Given the description of an element on the screen output the (x, y) to click on. 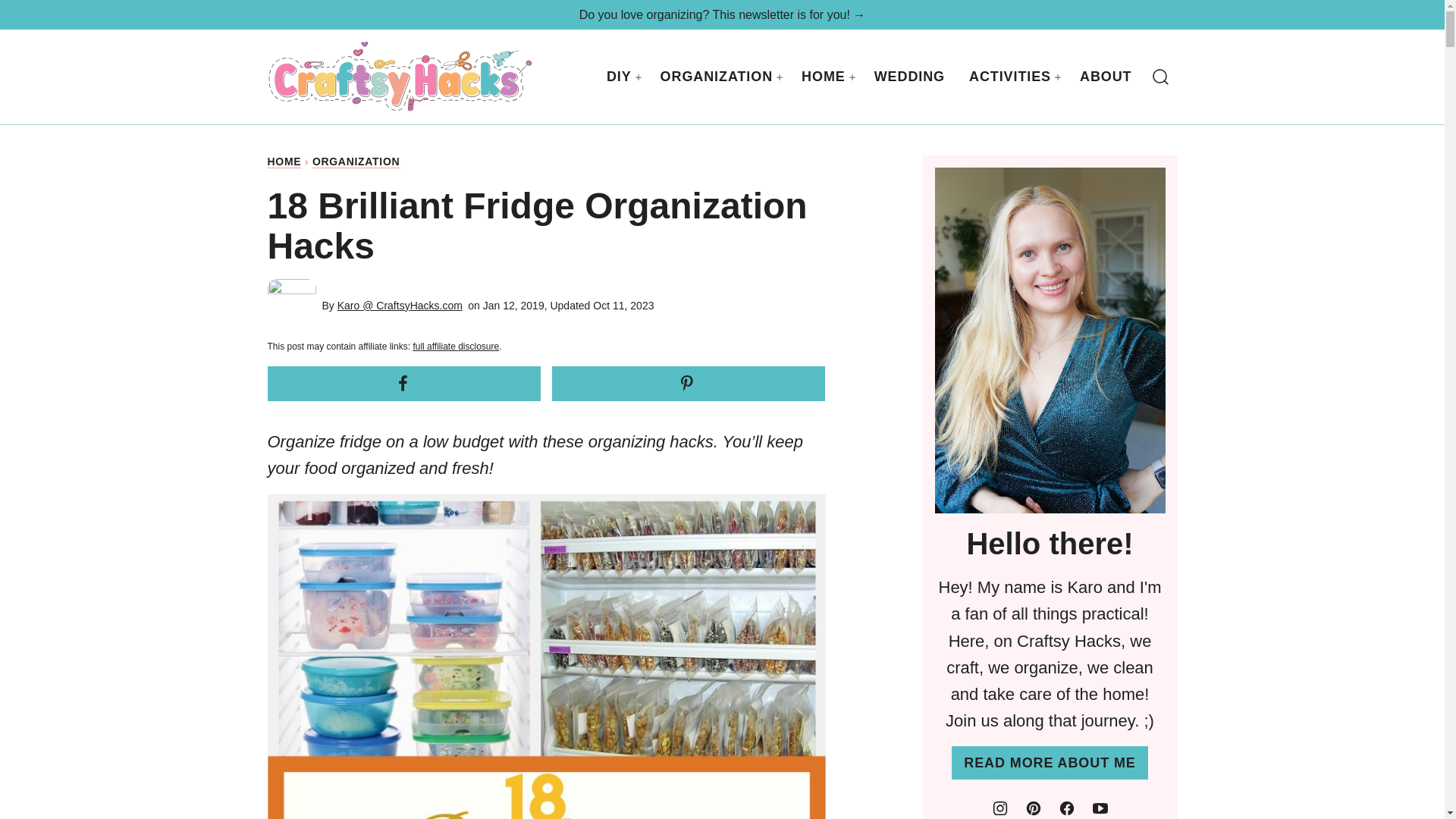
ABOUT (1105, 77)
WEDDING (908, 77)
HOME (283, 161)
ORGANIZATION (355, 161)
HOME (825, 77)
full affiliate disclosure (455, 346)
Share on Facebook (403, 383)
ORGANIZATION (718, 77)
DIY (620, 77)
Save to Pinterest (688, 383)
